Given the description of an element on the screen output the (x, y) to click on. 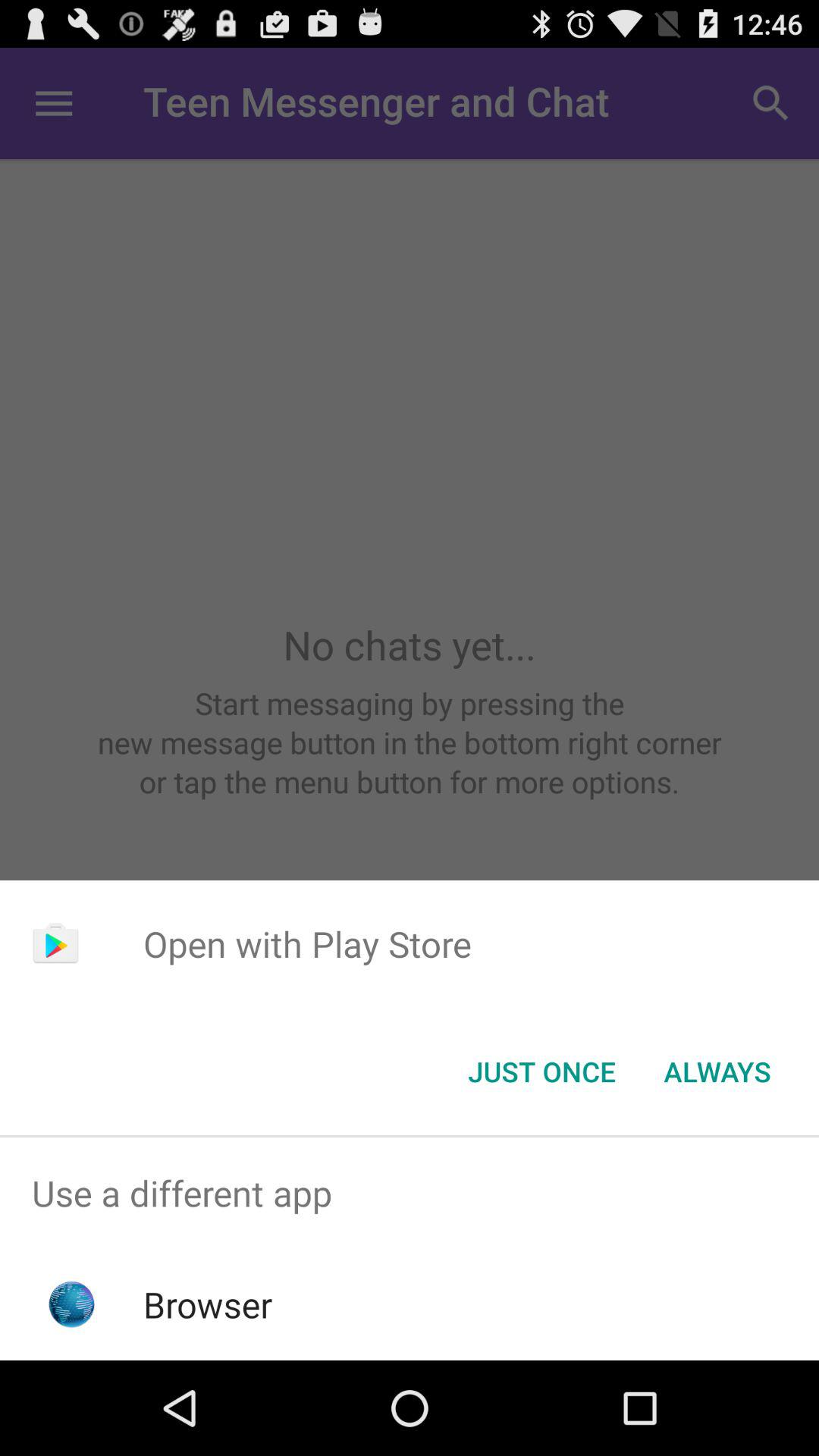
open app below open with play icon (717, 1071)
